Given the description of an element on the screen output the (x, y) to click on. 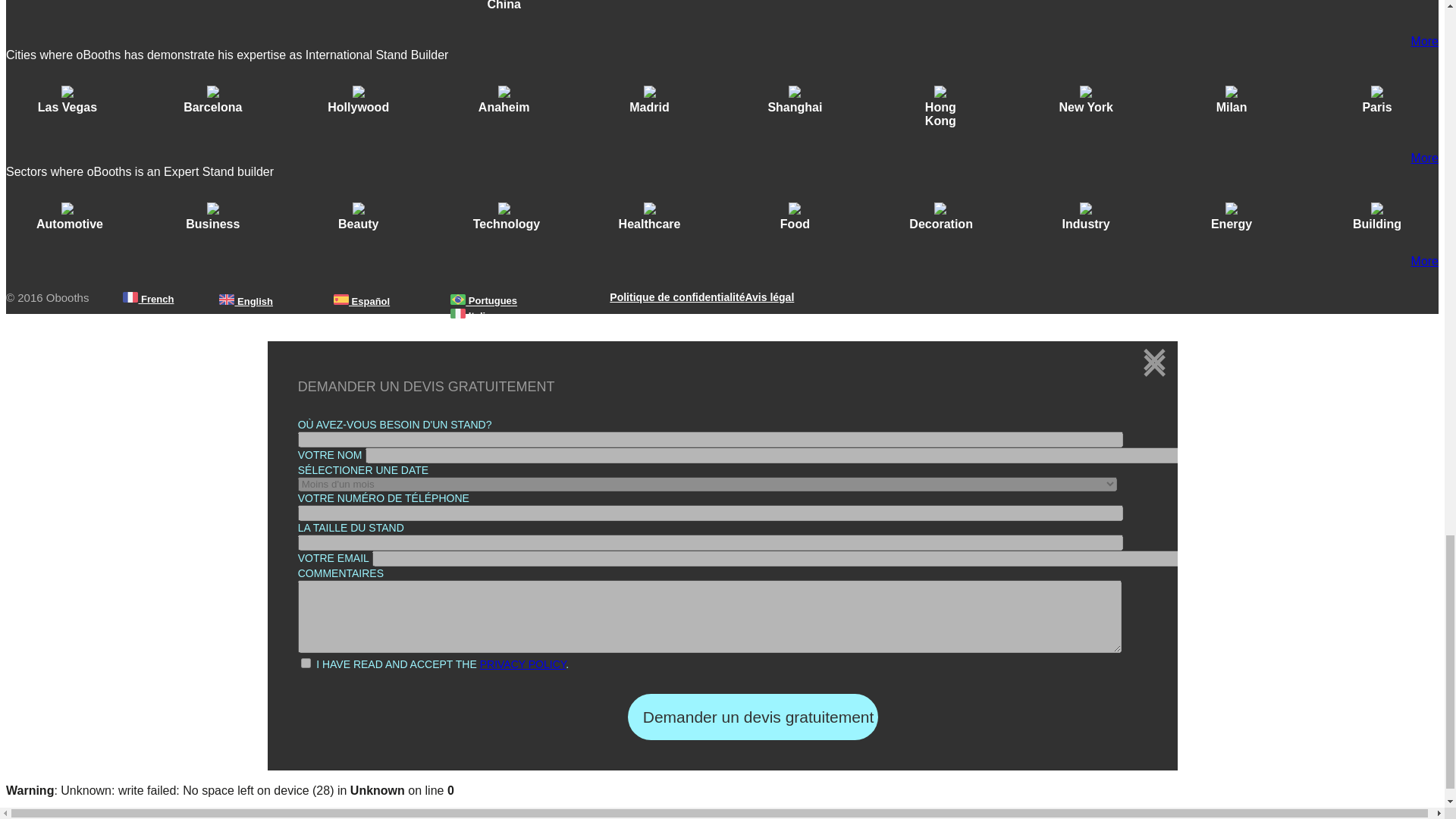
Demander un devis gratuitement (752, 716)
Demander un devis gratuitement (752, 716)
English (245, 300)
Experience in Hong Kong S.A.R., China (504, 11)
French (148, 298)
on (306, 663)
Portugues (483, 300)
Hong Kong S.A.R., China (504, 5)
More (1424, 157)
More (1424, 260)
PRIVACY POLICY (523, 664)
More (1424, 41)
Italian (473, 314)
